Given the description of an element on the screen output the (x, y) to click on. 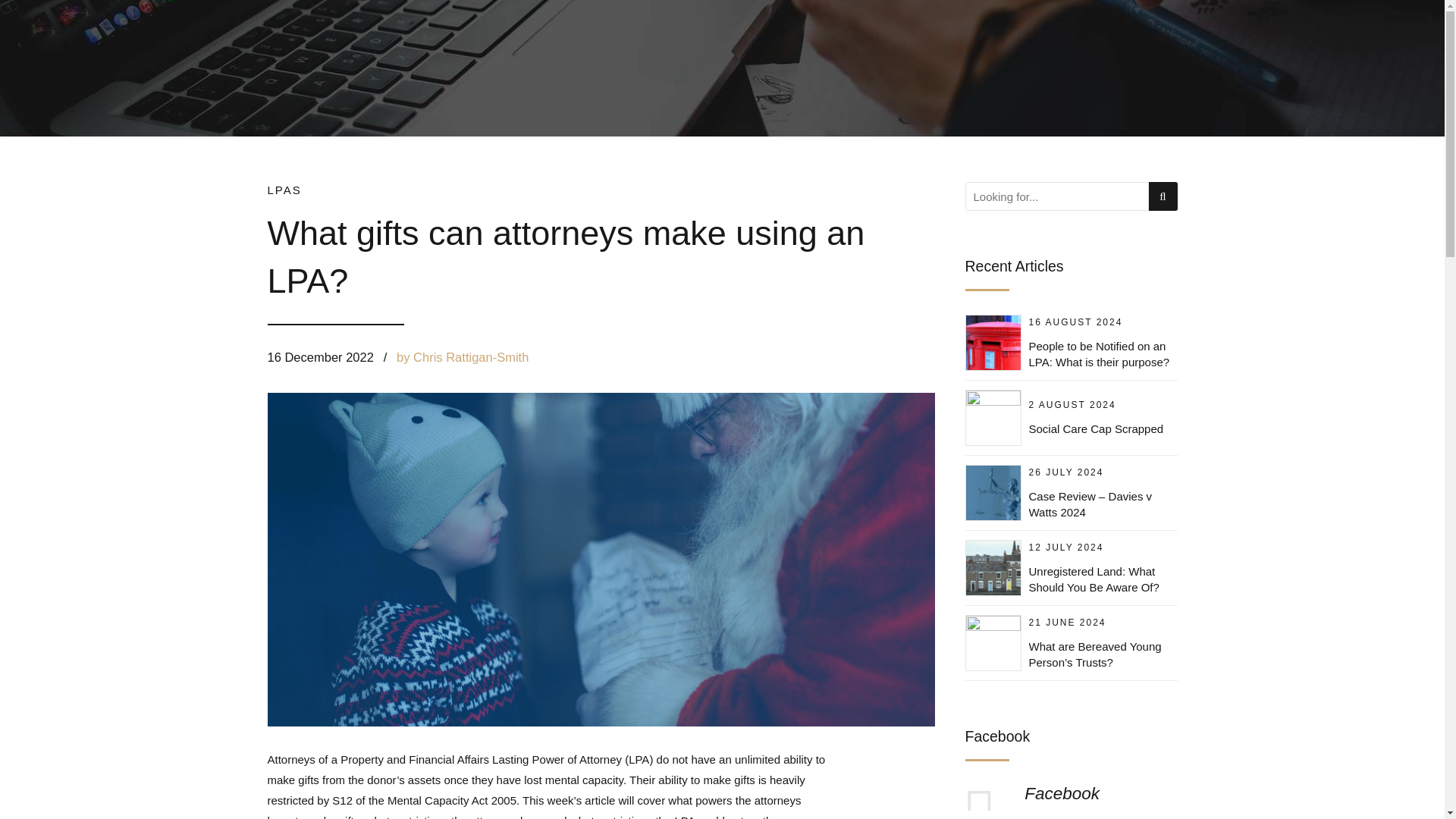
by Chris Rattigan-Smith (462, 356)
People to be Notified on an LPA: What is their purpose? (1098, 353)
LPAS (283, 189)
